Given the description of an element on the screen output the (x, y) to click on. 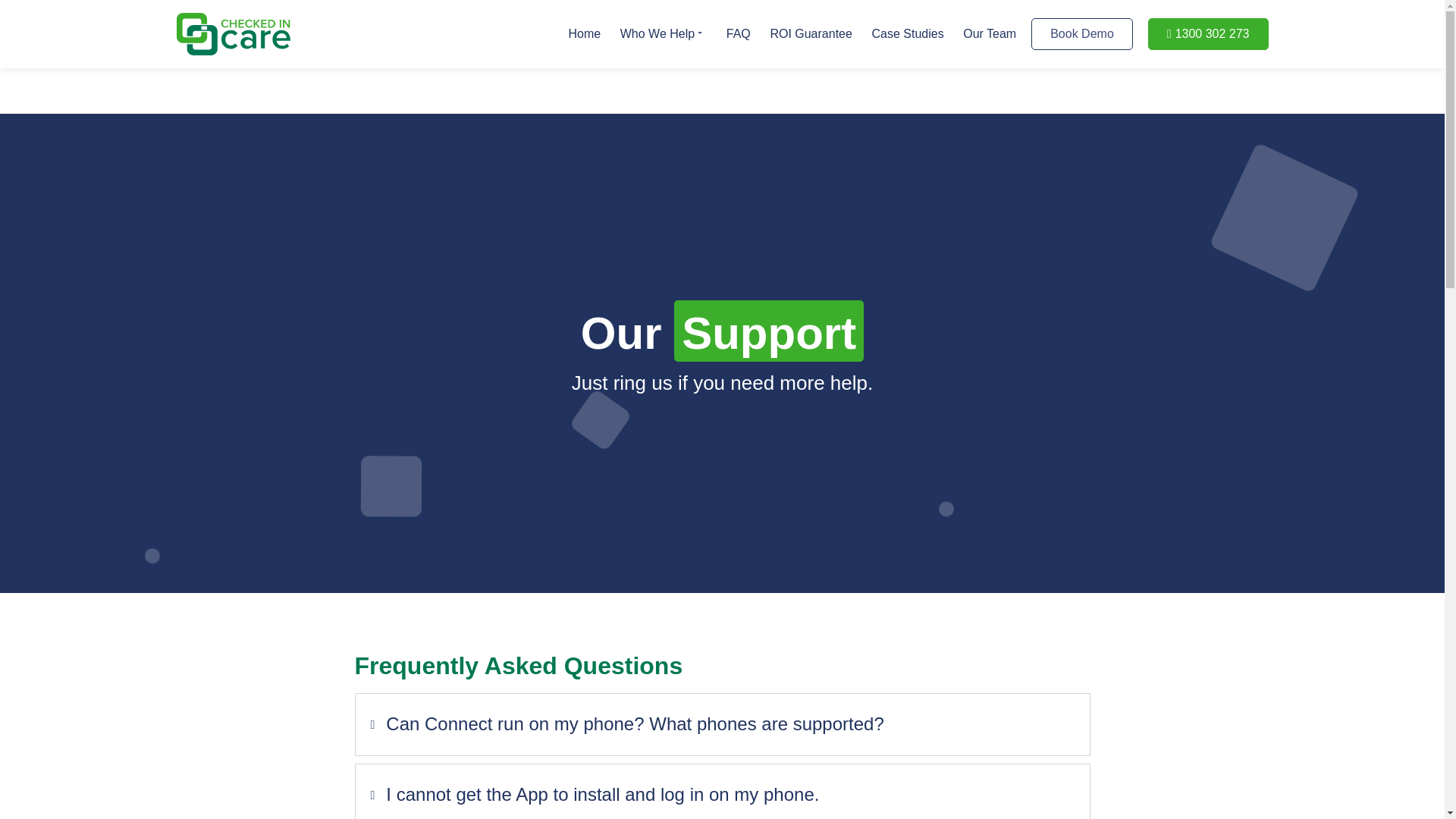
FAQ (738, 33)
1300 302 273 (1208, 33)
Book Demo (1081, 33)
Case Studies (906, 33)
Who We Help (663, 33)
Home (583, 33)
ROI Guarantee (810, 33)
Our Team (989, 33)
